Given the description of an element on the screen output the (x, y) to click on. 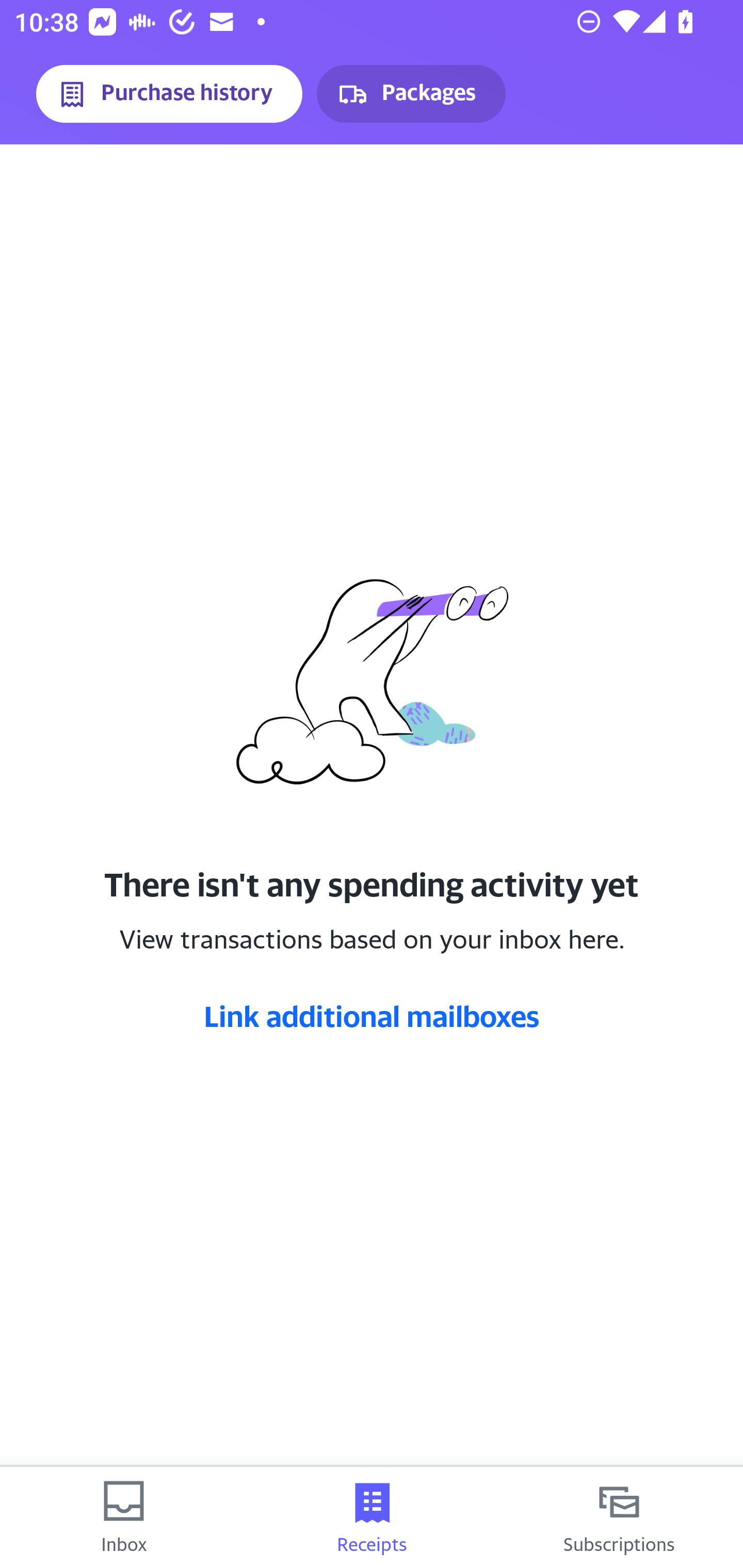
Packages (410, 93)
Link additional mailboxes (371, 1015)
Inbox (123, 1517)
Receipts (371, 1517)
Subscriptions (619, 1517)
